Given the description of an element on the screen output the (x, y) to click on. 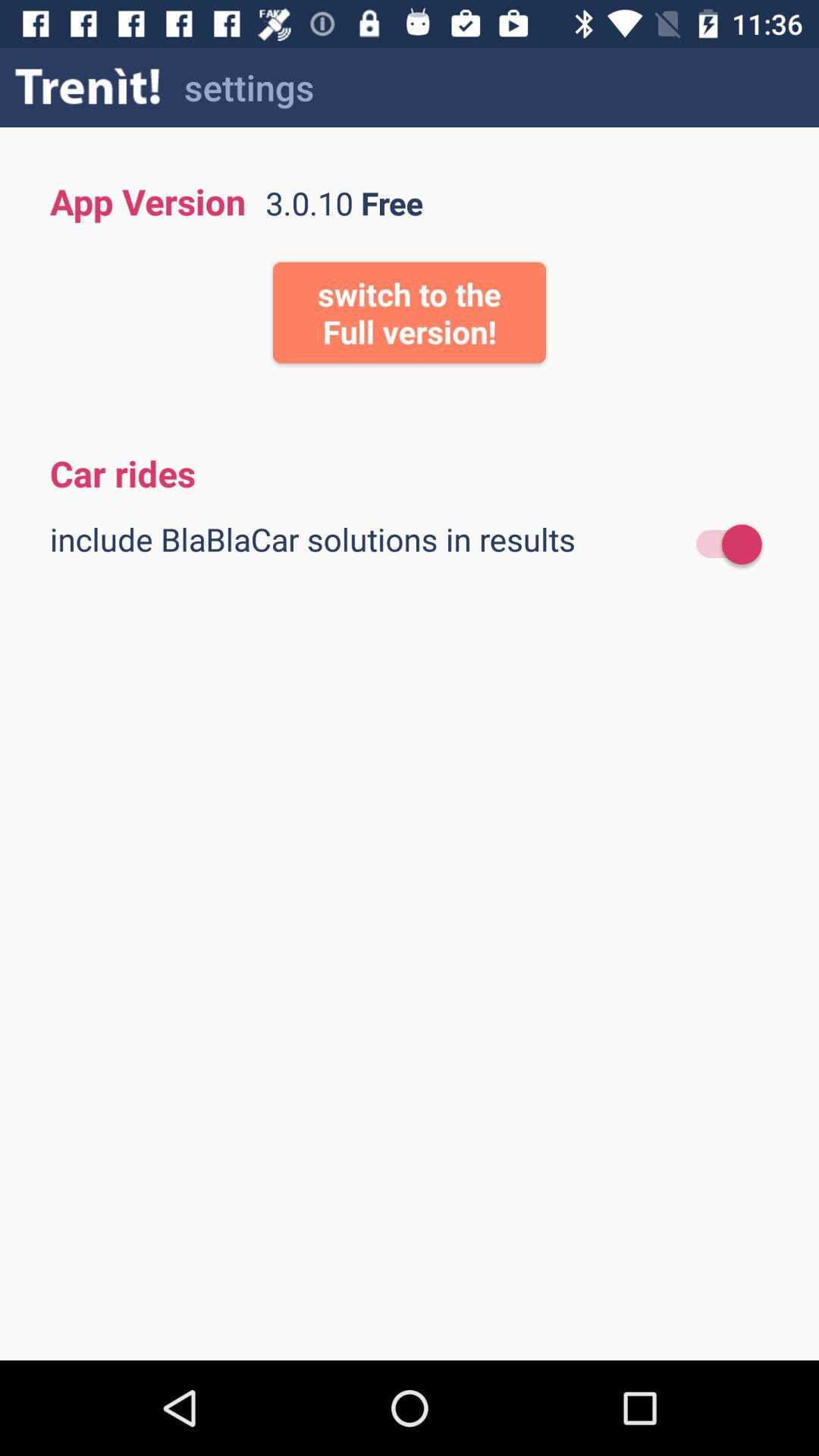
exclude from results (721, 544)
